Given the description of an element on the screen output the (x, y) to click on. 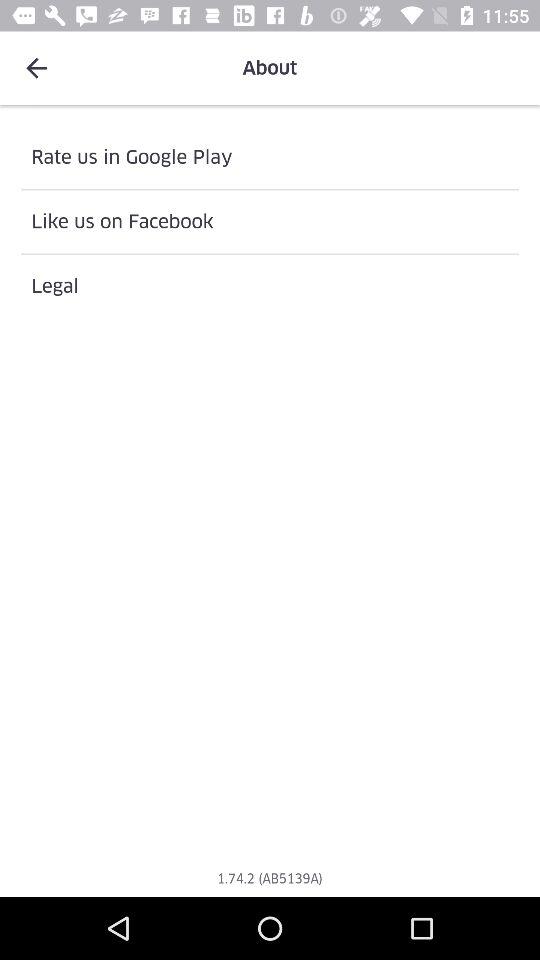
click the icon above 1 74 2 (270, 286)
